Given the description of an element on the screen output the (x, y) to click on. 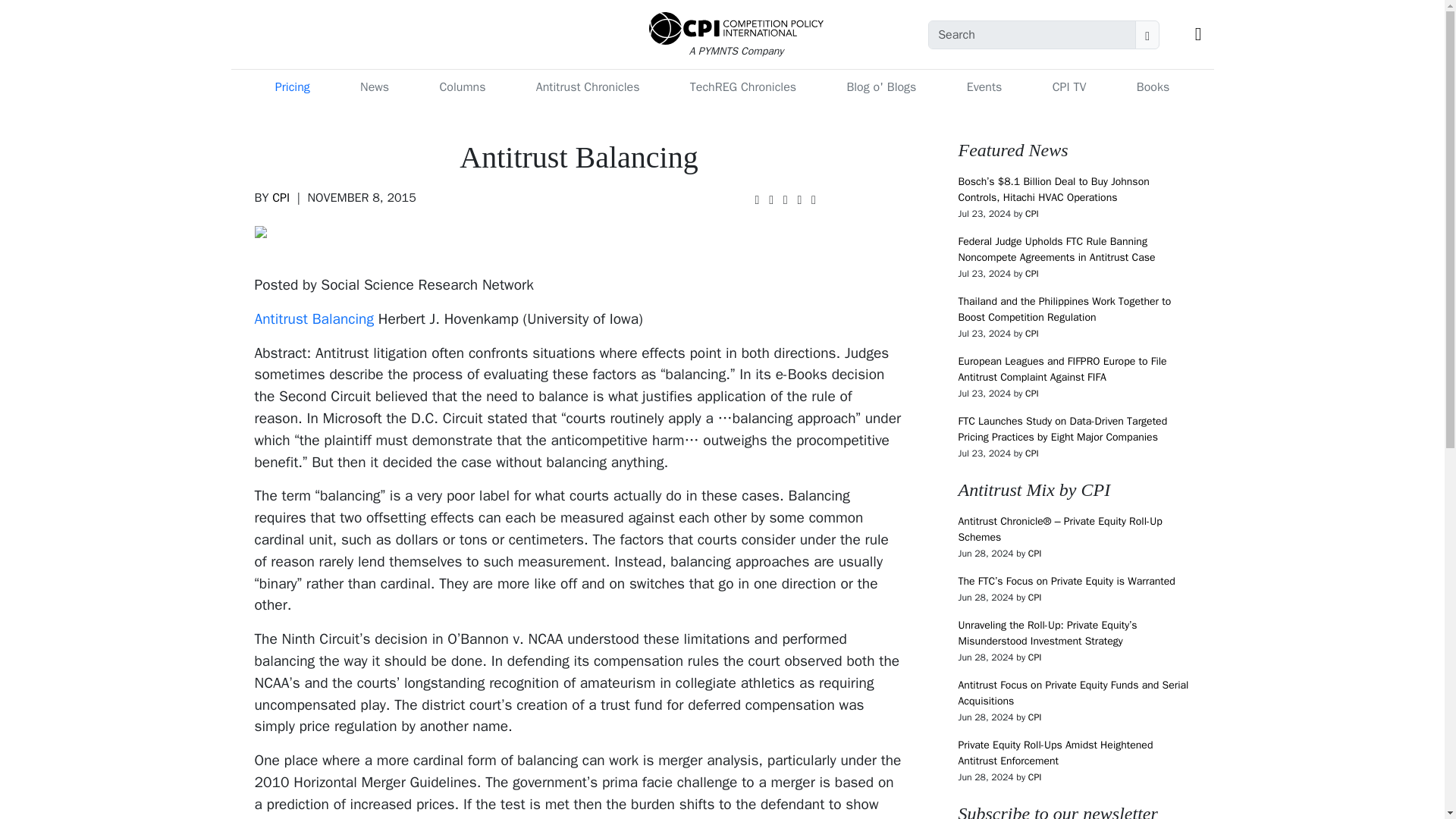
CPI (1034, 597)
CPI (1032, 333)
CPI (1034, 657)
Posts by CPI (1034, 553)
Posts by CPI (1032, 453)
TechREG Chronicles (743, 87)
Pricing (292, 87)
Posts by CPI (280, 197)
CPI (1032, 393)
Antitrust Chronicles (587, 87)
Blog o' Blogs (880, 87)
Posts by CPI (1032, 333)
Antitrust Balancing (314, 319)
CPI (280, 197)
